Given the description of an element on the screen output the (x, y) to click on. 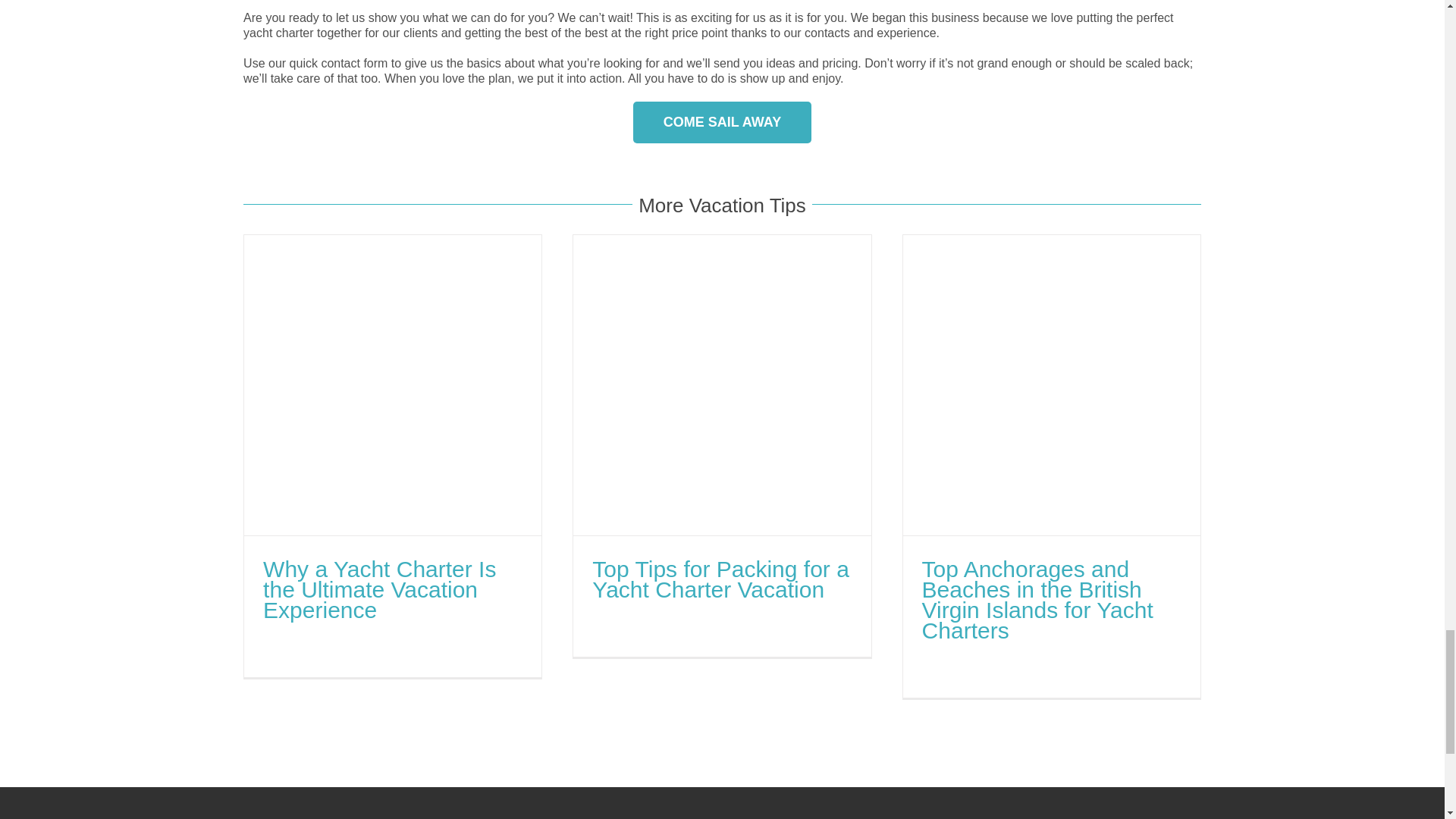
Canvas Waves 2 (356, 5)
Why a Yacht Charter Is the Ultimate Vacation Experience (379, 589)
Top Tips for Packing for a Yacht Charter Vacation (720, 578)
COME SAIL AWAY (721, 122)
